Given the description of an element on the screen output the (x, y) to click on. 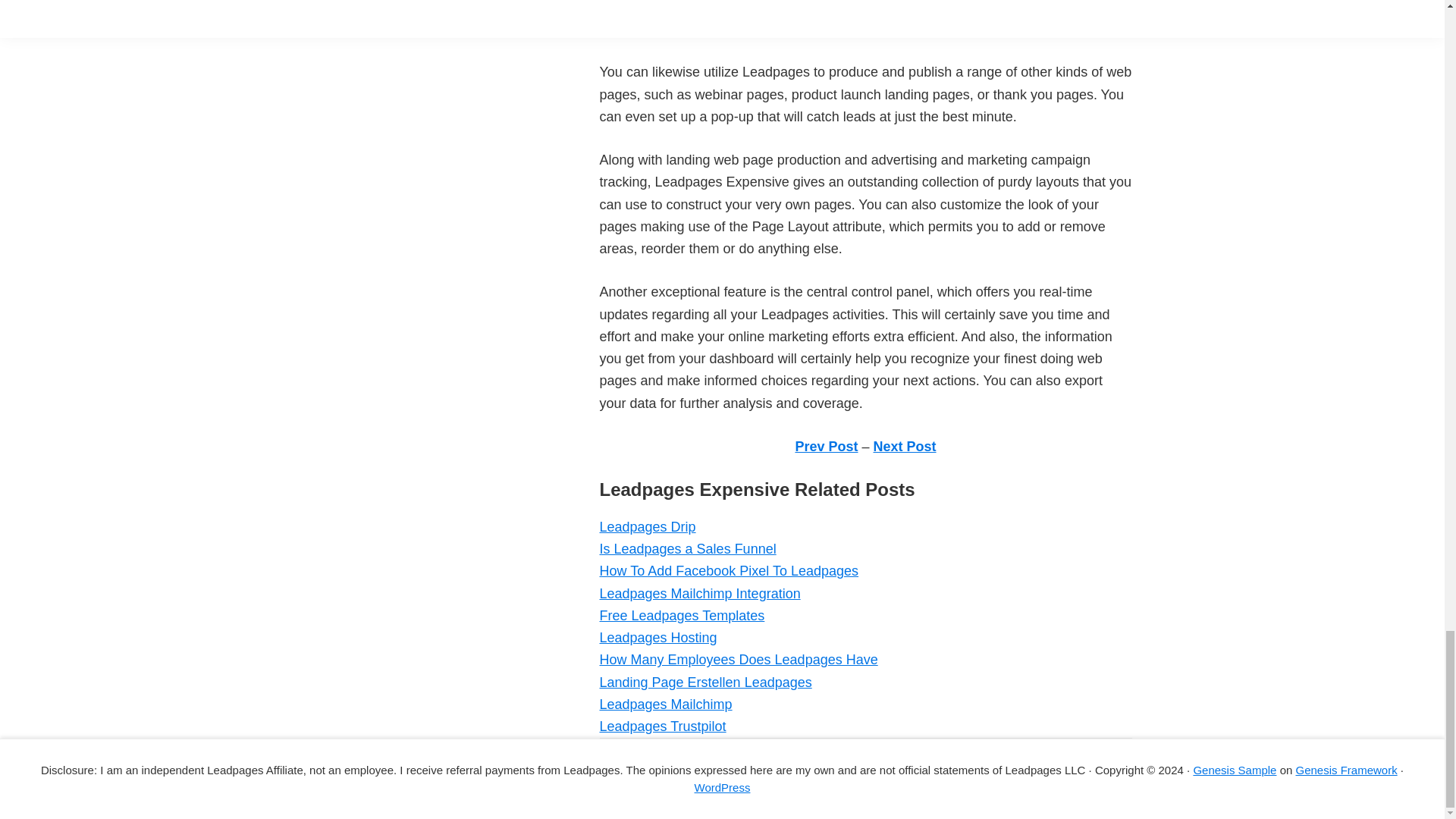
Leadpages Hosting (657, 637)
Is Leadpages a Sales Funnel (687, 548)
Prev Post (825, 446)
Leadpages Trustpilot (661, 726)
Free Leadpages Templates (681, 615)
How To Add Facebook Pixel To Leadpages (728, 570)
Free Leadpages Templates (681, 615)
Leadpages Hosting (657, 637)
How Many Employees Does Leadpages Have (737, 659)
How Many Employees Does Leadpages Have (737, 659)
